Given the description of an element on the screen output the (x, y) to click on. 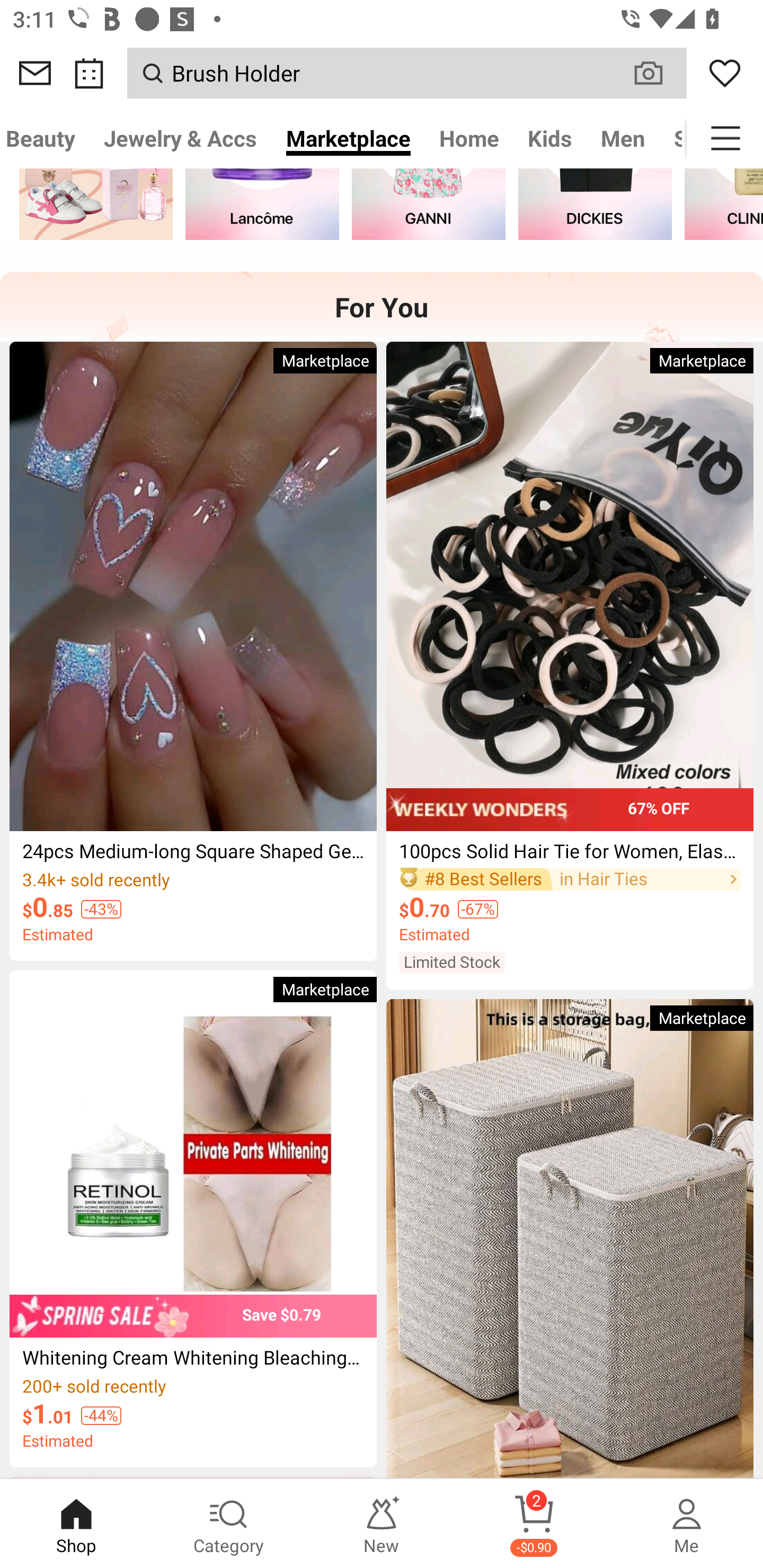
Wishlist (724, 72)
VISUAL SEARCH (657, 72)
Beauty (44, 137)
Jewelry & Accs (180, 137)
Marketplace (347, 137)
Home (468, 137)
Kids (549, 137)
Men (622, 137)
#8 Best Sellers in Hair Ties (569, 879)
Category (228, 1523)
New (381, 1523)
Cart 2 -$0.90 (533, 1523)
Me (686, 1523)
